Given the description of an element on the screen output the (x, y) to click on. 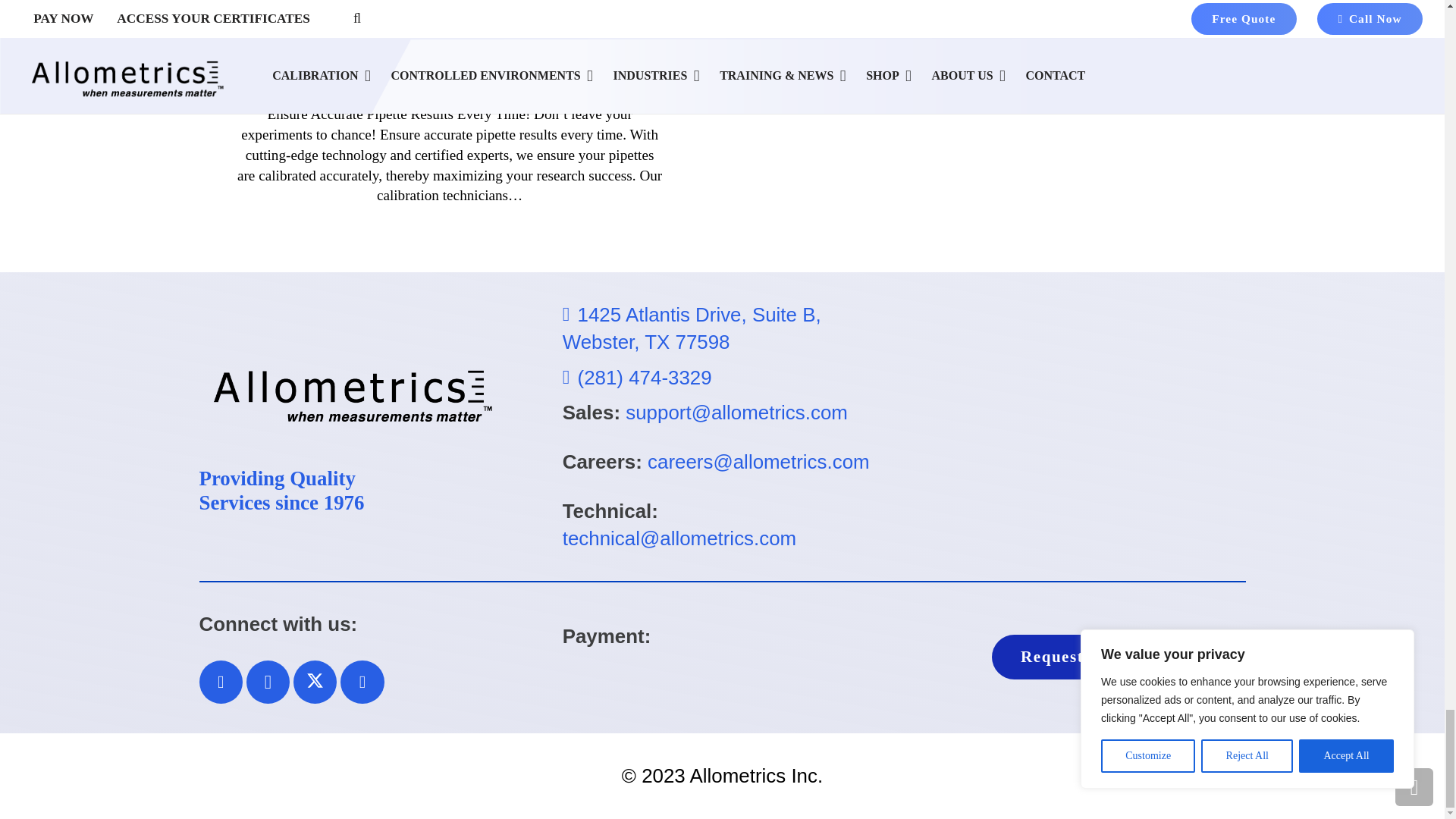
Twitter (315, 682)
Facebook (220, 682)
Accreditation Certificate (1086, 426)
LinkedIn (362, 682)
Instagram (267, 682)
